Given the description of an element on the screen output the (x, y) to click on. 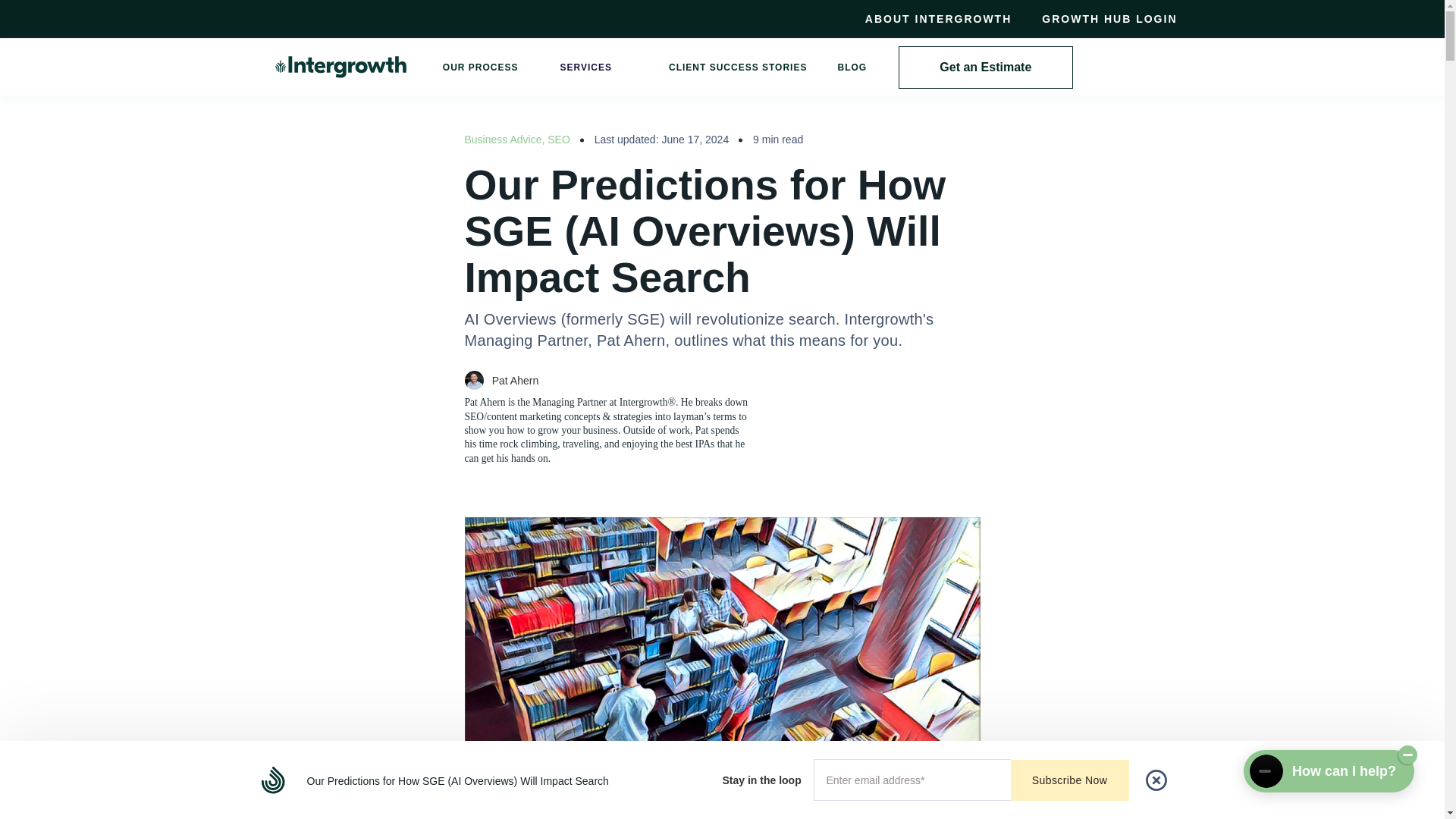
Subscribe Now (1069, 780)
GROWTH HUB LOGIN (1101, 18)
ABOUT INTERGROWTH (938, 18)
Get an Estimate (985, 66)
CLIENT SUCCESS STORIES (738, 66)
BLOG (851, 66)
OUR PROCESS (479, 66)
